Given the description of an element on the screen output the (x, y) to click on. 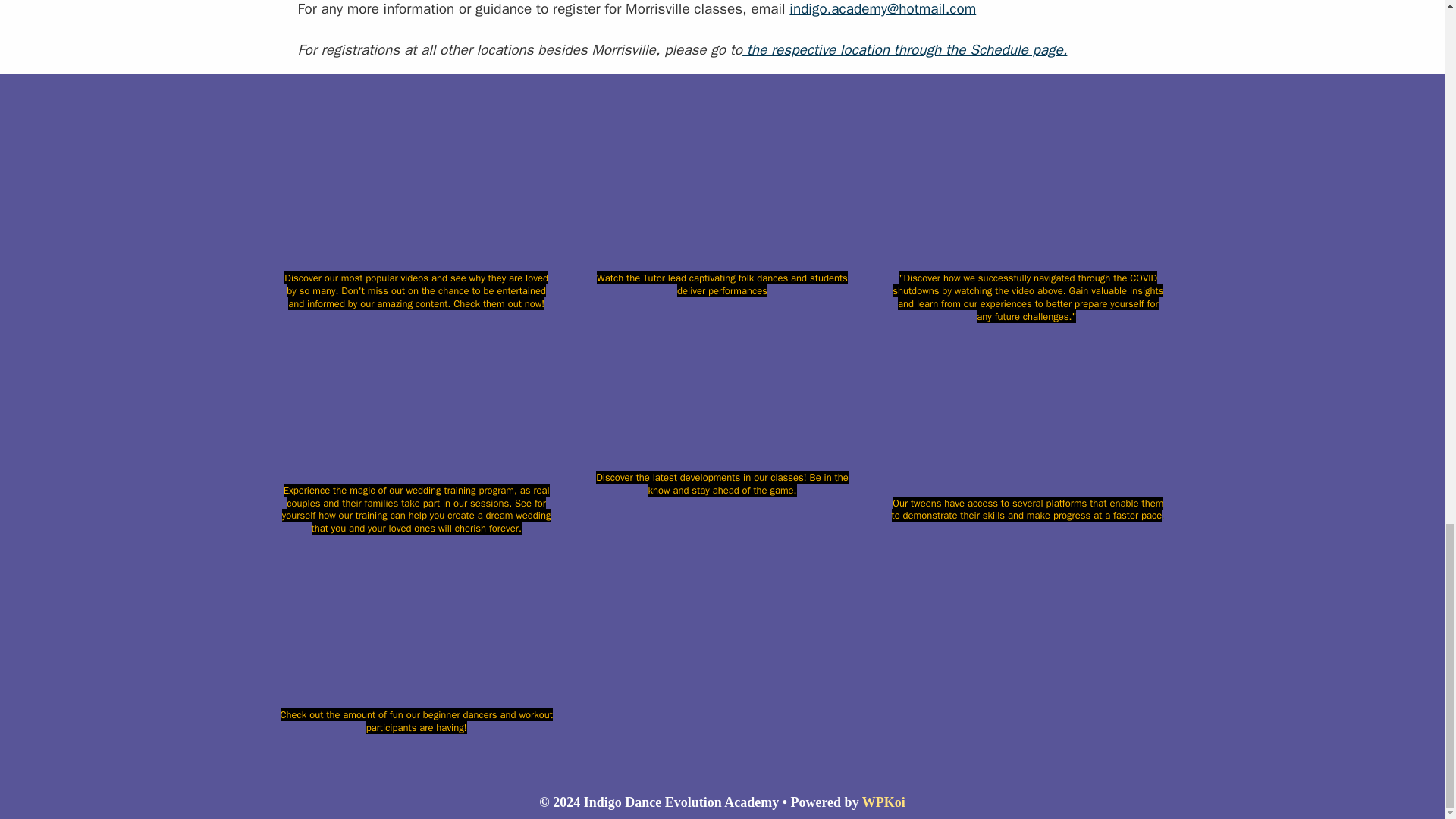
WPKoi (883, 801)
 the respective location through the Schedule page. (904, 49)
